Given the description of an element on the screen output the (x, y) to click on. 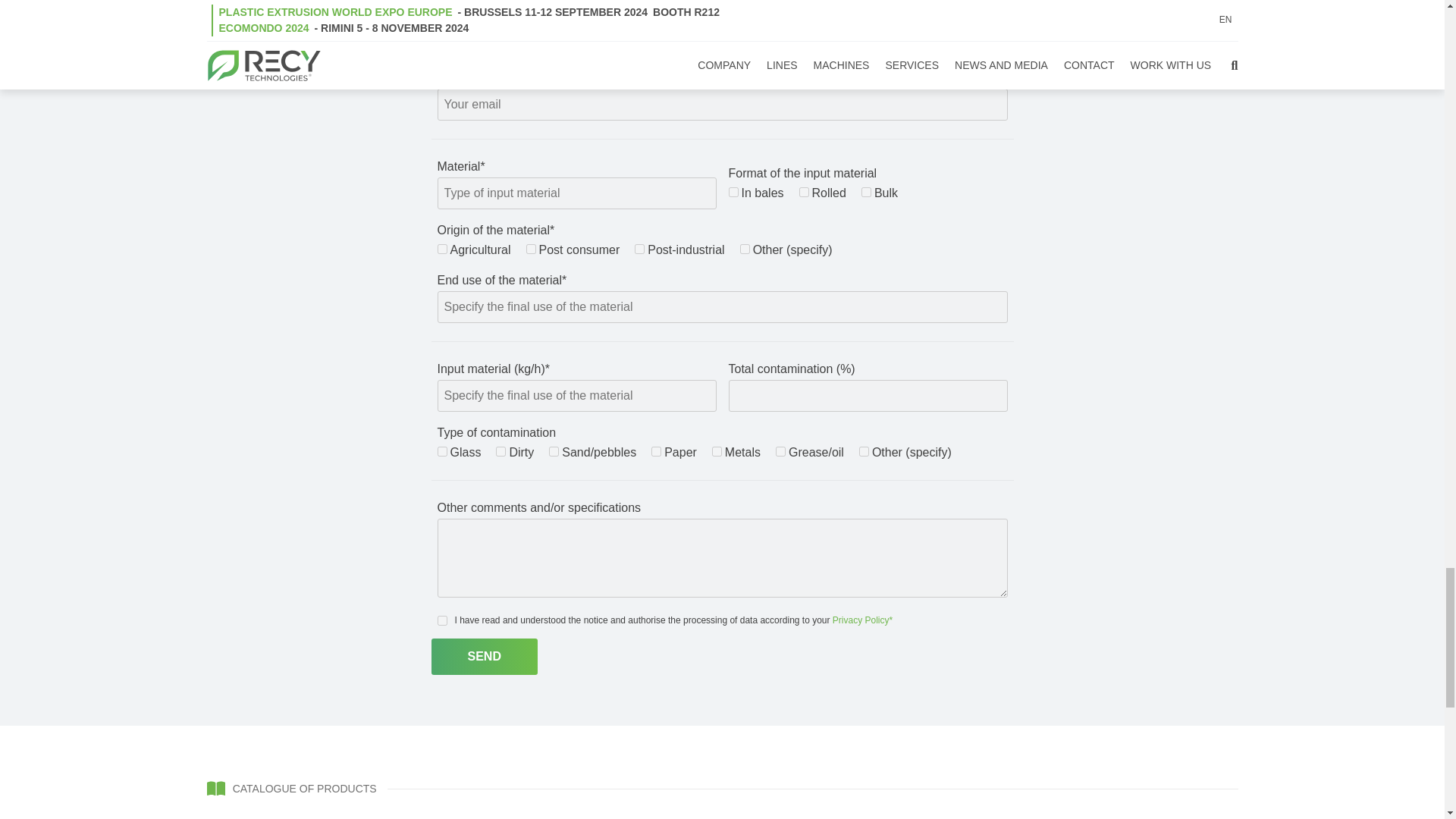
Arrotolato (804, 192)
Post consumo (530, 248)
Sfuso (865, 192)
Sporco (500, 451)
Vetro (441, 451)
Carta (655, 451)
In balle (733, 192)
Post-industriale (639, 248)
Agricolo (441, 248)
